Given the description of an element on the screen output the (x, y) to click on. 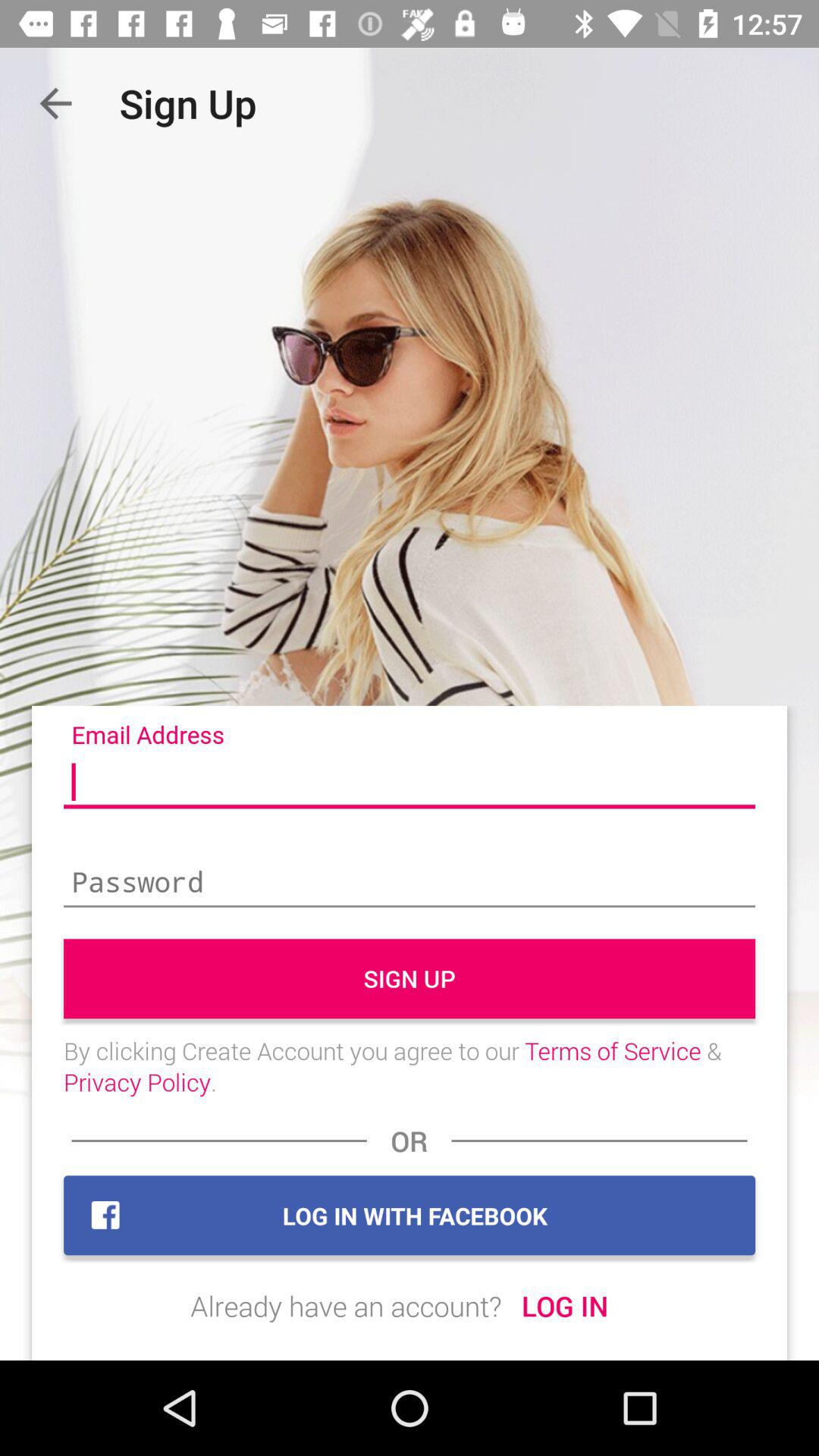
open icon below log in with (345, 1305)
